Given the description of an element on the screen output the (x, y) to click on. 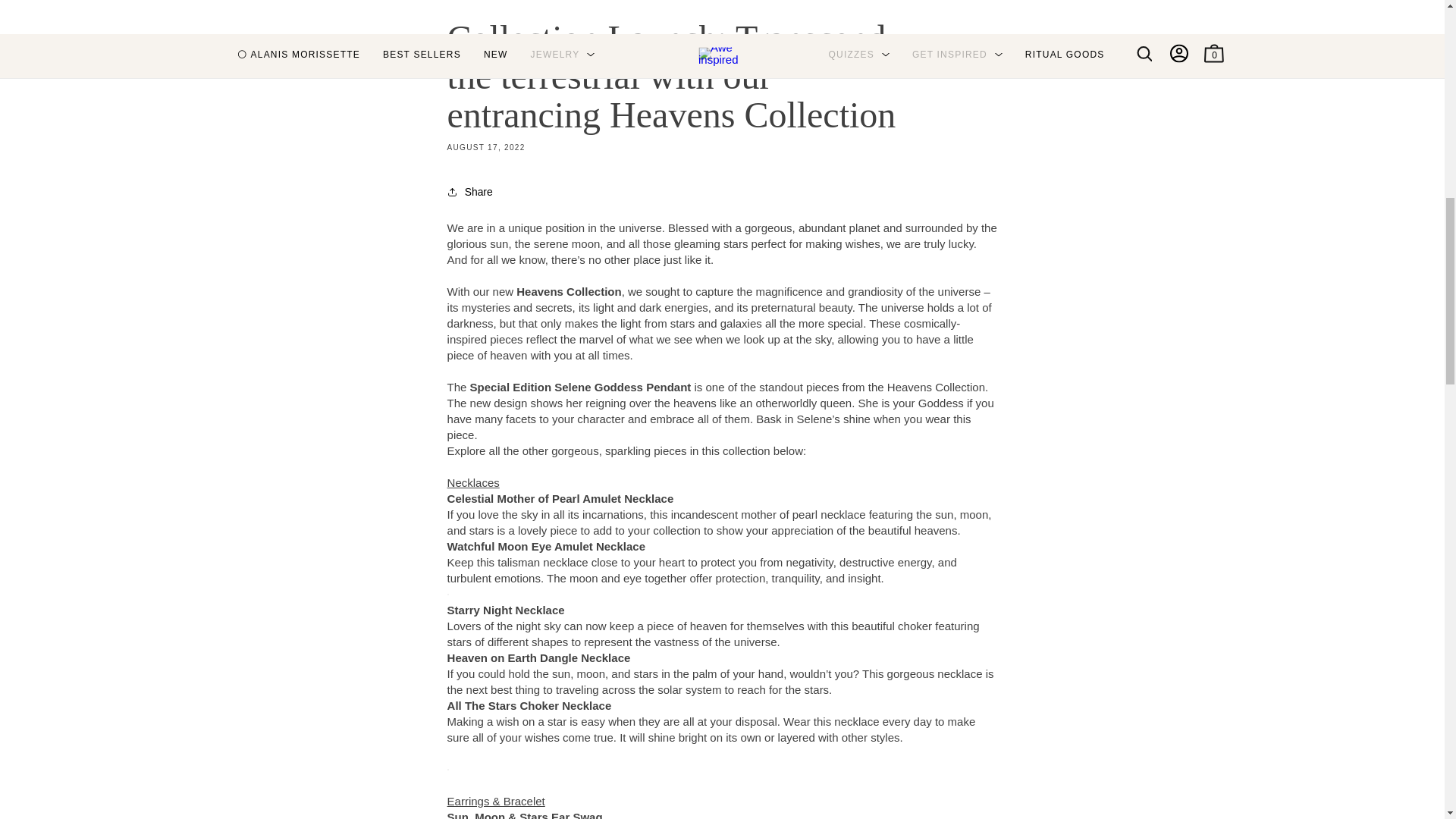
Share (721, 191)
